Given the description of an element on the screen output the (x, y) to click on. 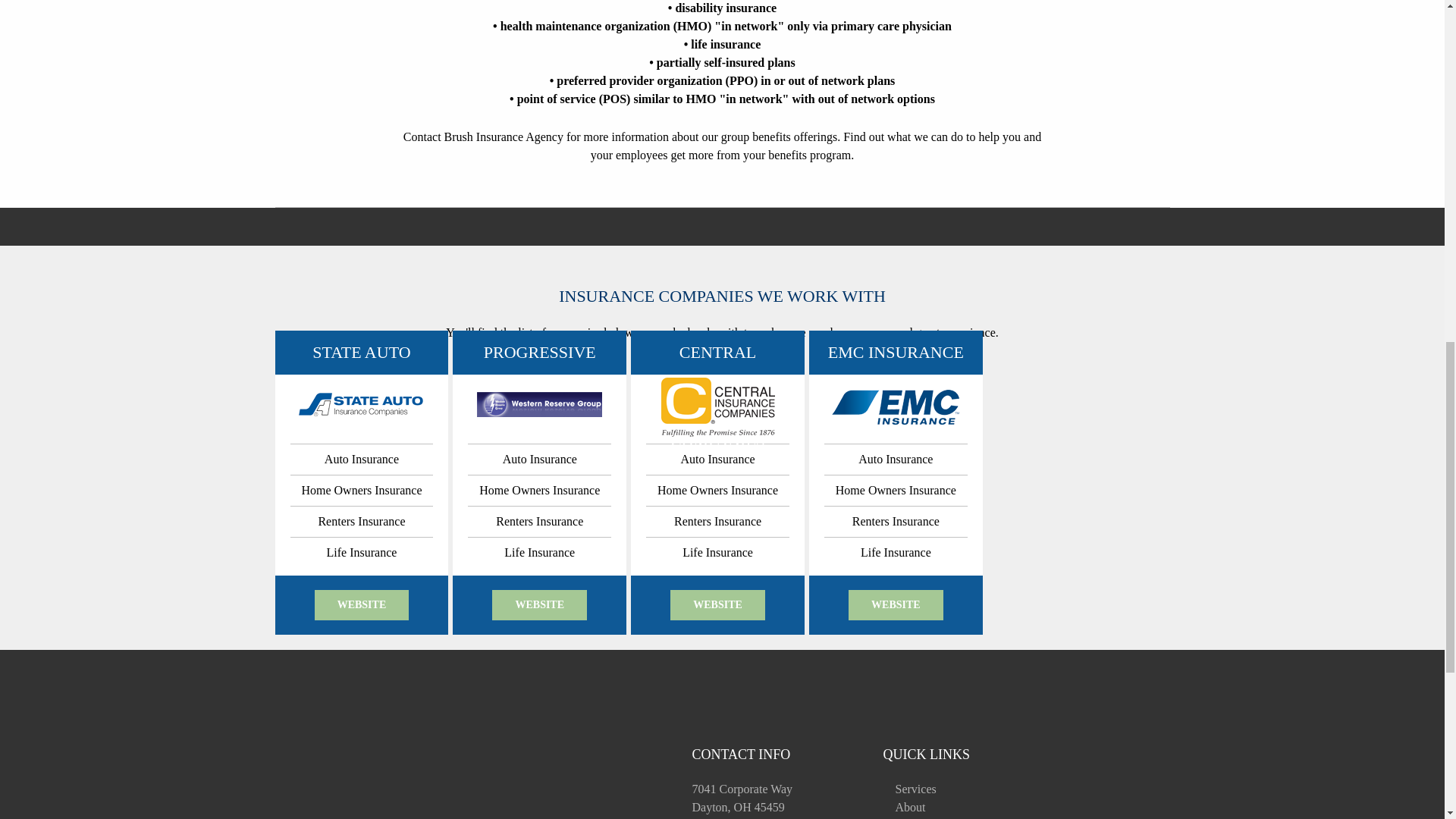
WEBSITE (361, 604)
linkedin (611, 785)
WEBSITE (717, 604)
About (909, 807)
WEBSITE (539, 604)
Website (322, 778)
WEBSITE (895, 604)
facebook (584, 785)
Services (915, 788)
